Given the description of an element on the screen output the (x, y) to click on. 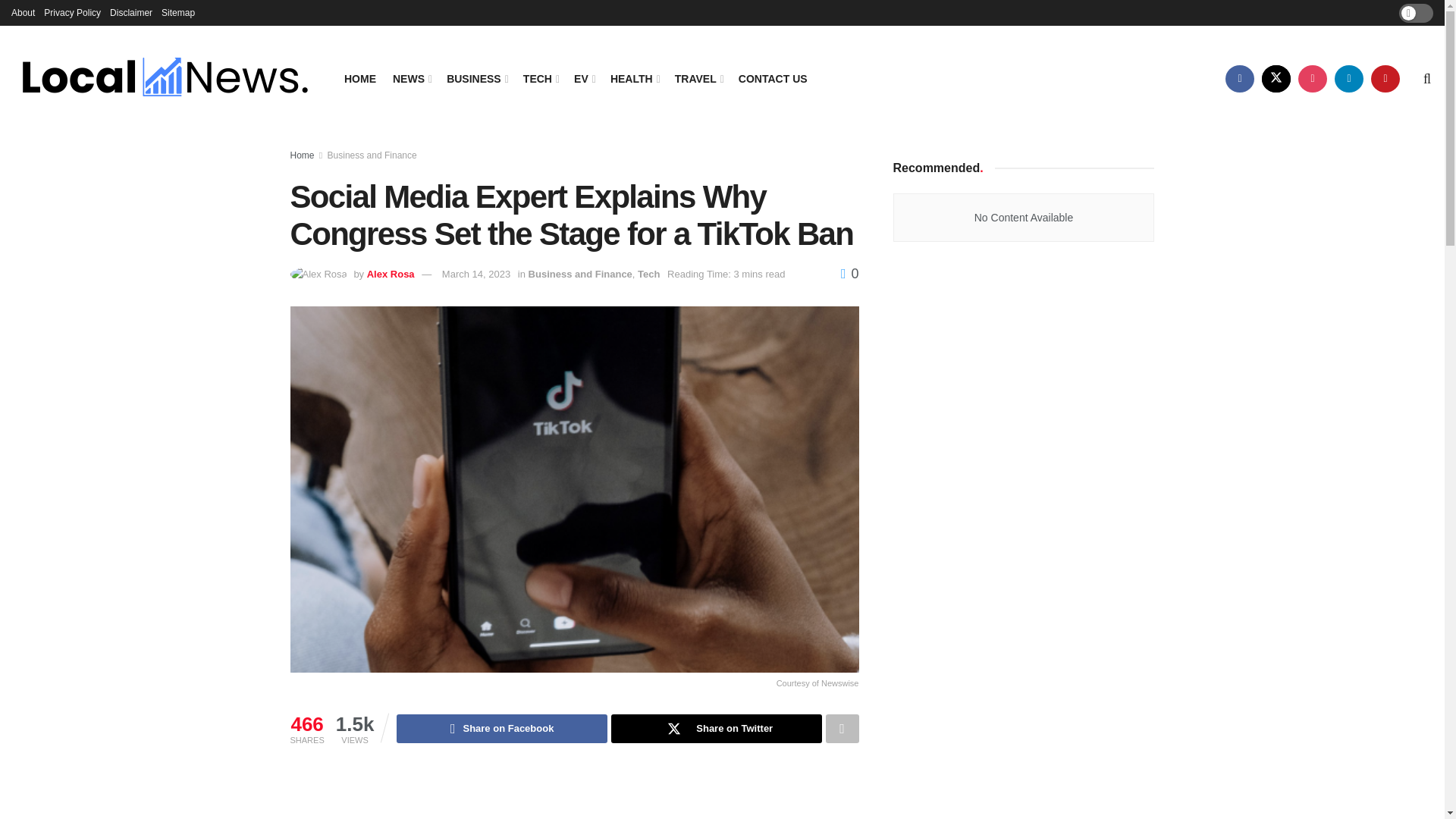
NEWS (411, 78)
Sitemap (178, 12)
Disclaimer (131, 12)
Privacy Policy (71, 12)
About (22, 12)
Advertisement (574, 794)
BUSINESS (476, 78)
HOME (359, 78)
